Given the description of an element on the screen output the (x, y) to click on. 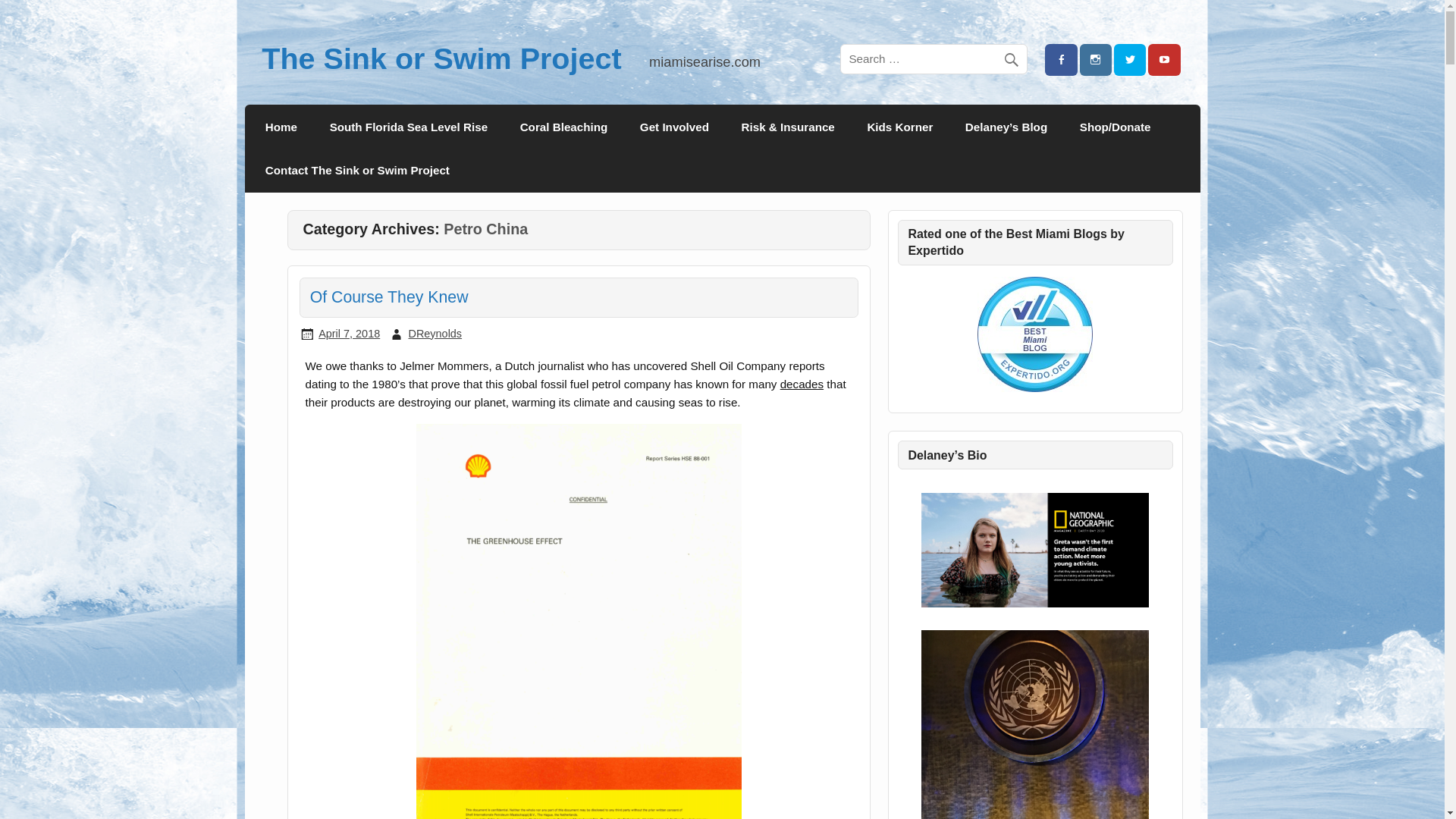
April 7, 2018 (349, 333)
Of Course They Knew (389, 297)
Kids Korner (899, 126)
DReynolds (434, 333)
South Florida Sea Level Rise (408, 126)
9:04 pm (349, 333)
Contact The Sink or Swim Project (356, 170)
Coral Bleaching (563, 126)
Get Involved (674, 126)
View all posts by DReynolds (434, 333)
Home (281, 126)
